Given the description of an element on the screen output the (x, y) to click on. 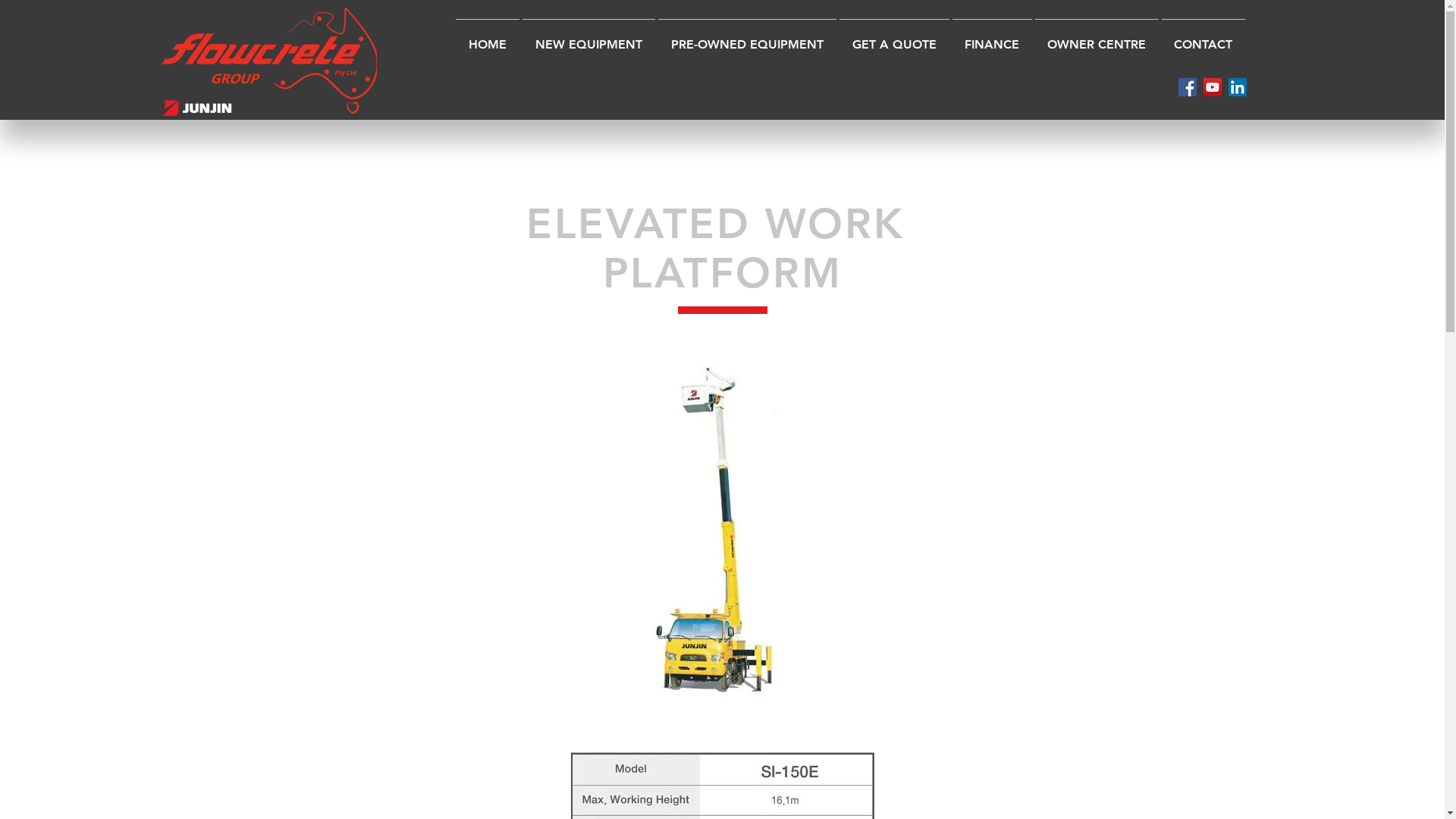
FINANCE Element type: text (991, 37)
GET A QUOTE Element type: text (893, 37)
CONTACT Element type: text (1203, 37)
HOME Element type: text (486, 37)
PRE-OWNED EQUIPMENT Element type: text (746, 37)
NEW EQUIPMENT Element type: text (587, 37)
Site Search Element type: hover (1080, 92)
OWNER CENTRE Element type: text (1095, 37)
